Given the description of an element on the screen output the (x, y) to click on. 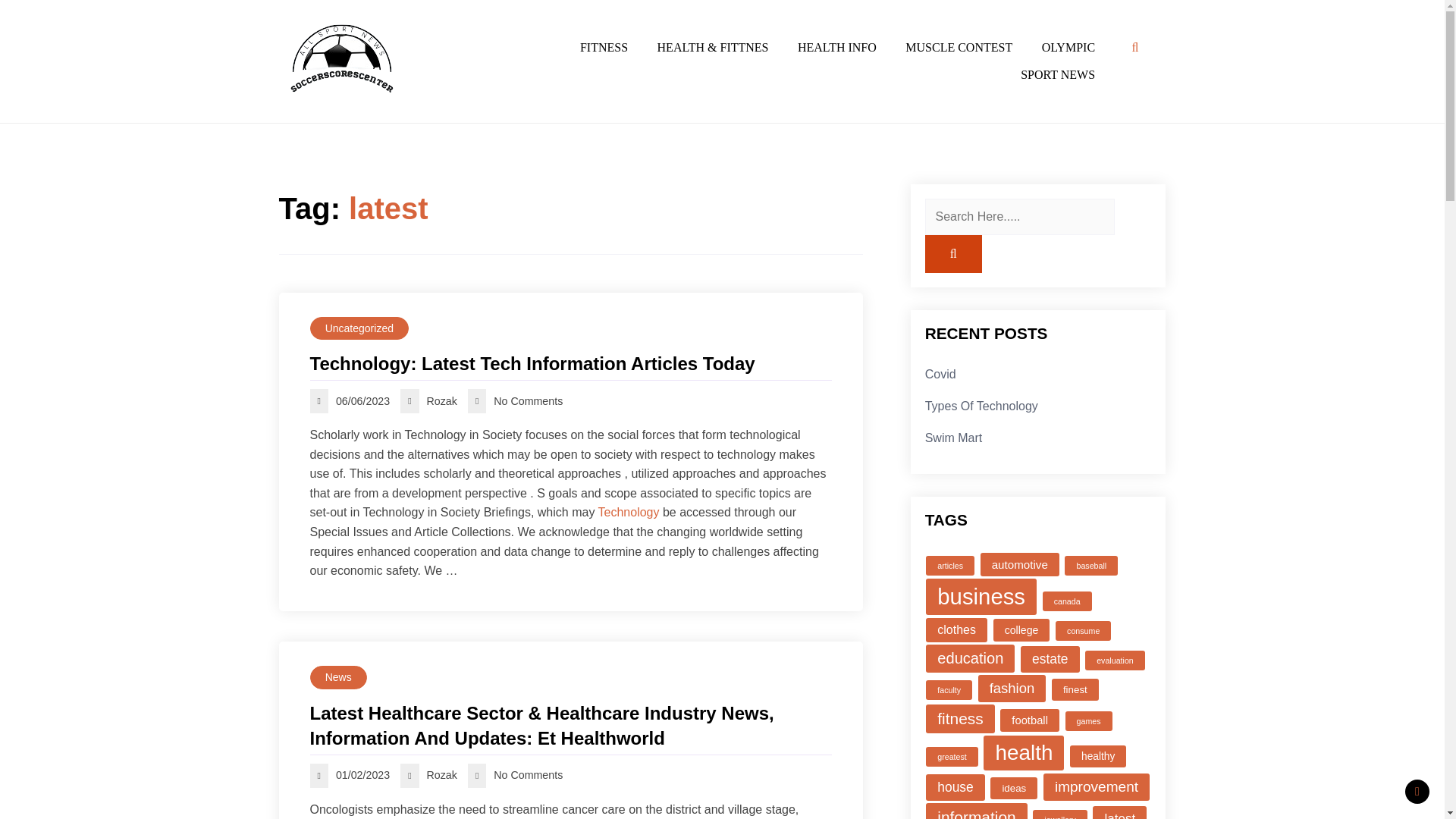
articles (950, 565)
Types Of Technology (981, 405)
MUSCLE CONTEST (958, 47)
Uncategorized (358, 328)
SSC (292, 116)
Swim Mart (953, 436)
OLYMPIC (1068, 47)
automotive (1019, 564)
Technology (628, 512)
HEALTH INFO (836, 47)
